Given the description of an element on the screen output the (x, y) to click on. 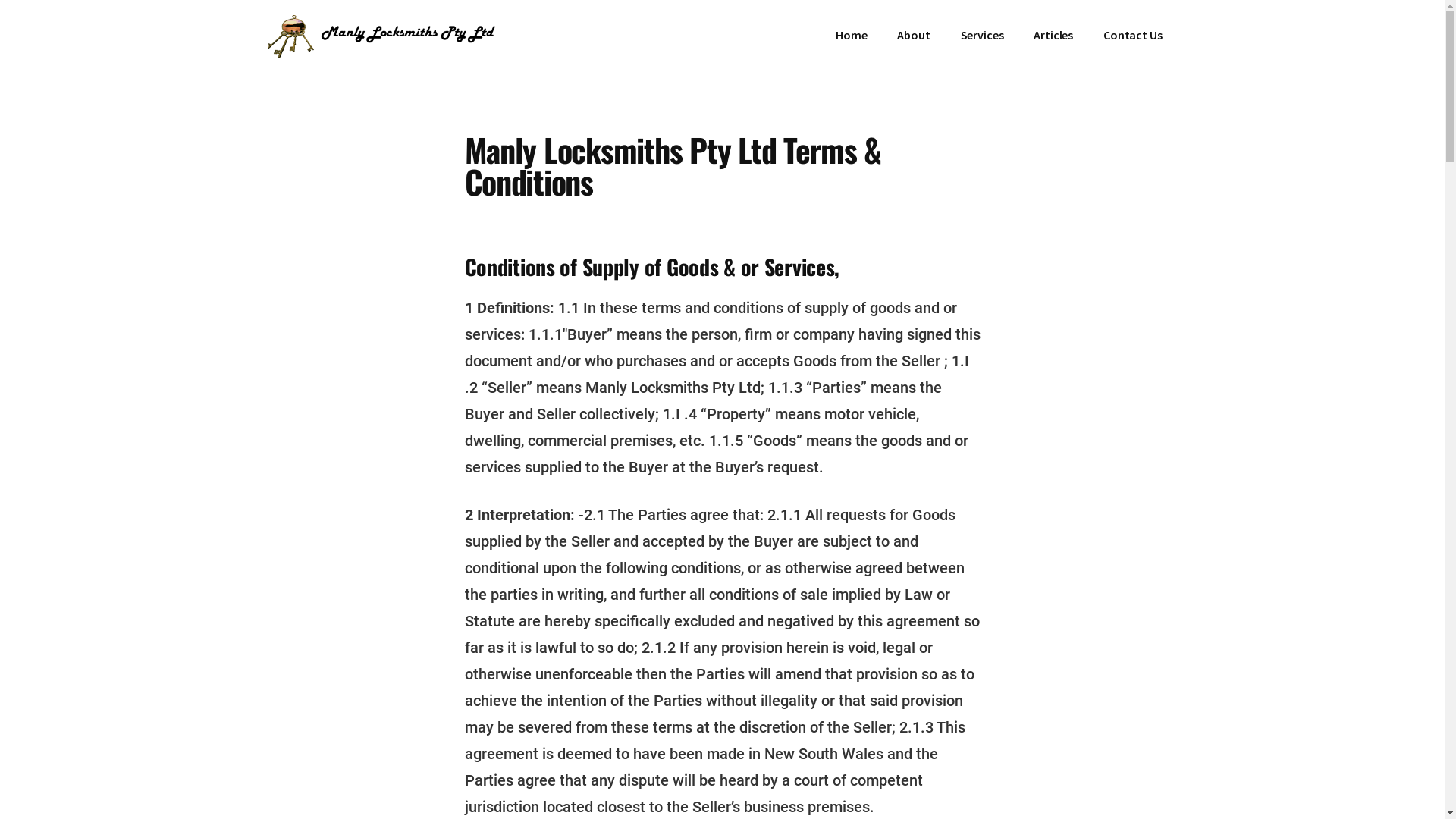
About Element type: text (912, 34)
Skip to main content Element type: text (0, 0)
Services Element type: text (982, 34)
Articles Element type: text (1053, 34)
Contact Us Element type: text (1132, 34)
Home Element type: text (850, 34)
